Given the description of an element on the screen output the (x, y) to click on. 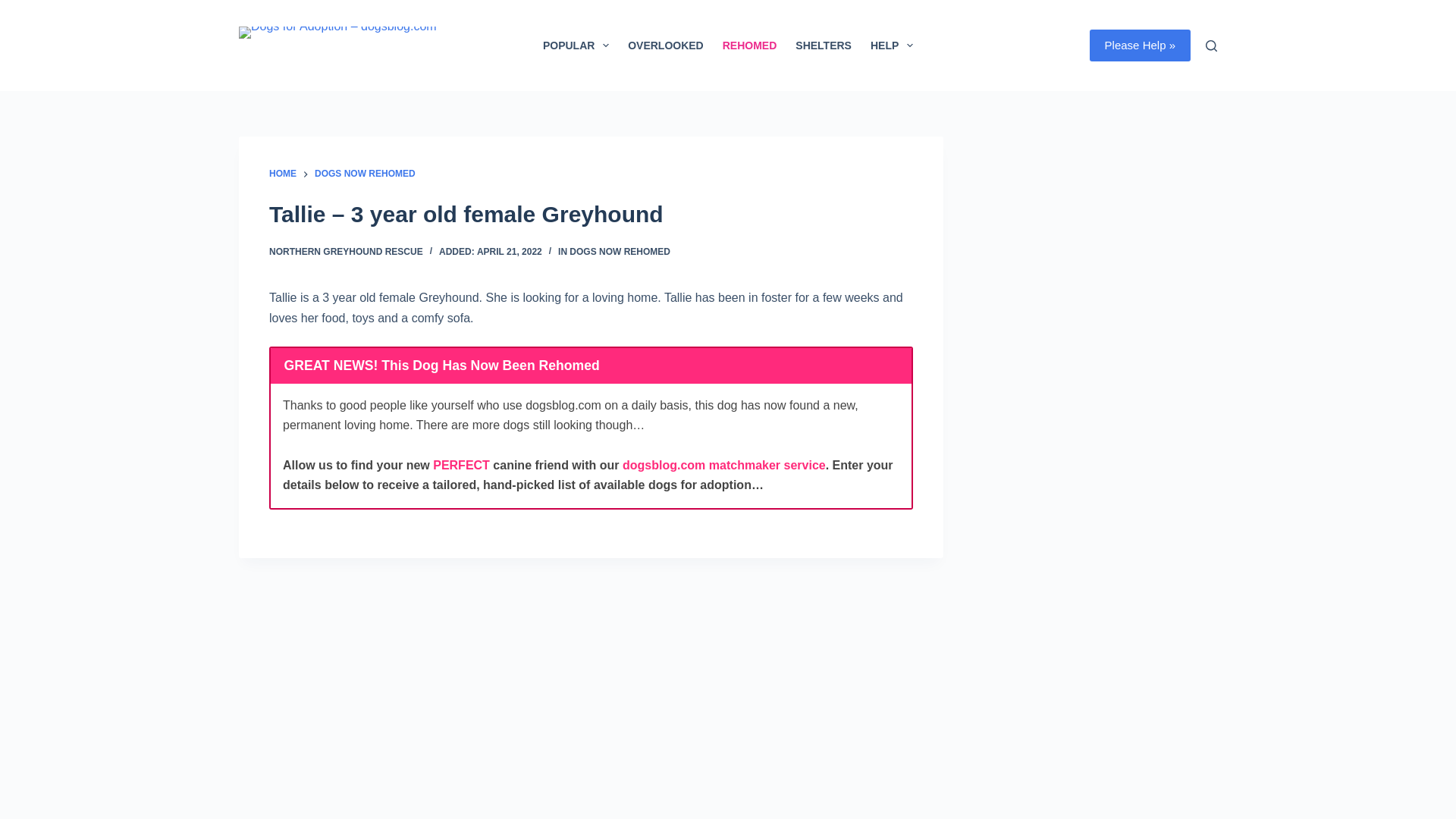
Overlooked Dogs for Adoption (665, 45)
POPULAR (574, 45)
Posts by Northern Greyhound Rescue (346, 251)
Skip to content (15, 7)
Popular Dogs for Adoption (574, 45)
